Given the description of an element on the screen output the (x, y) to click on. 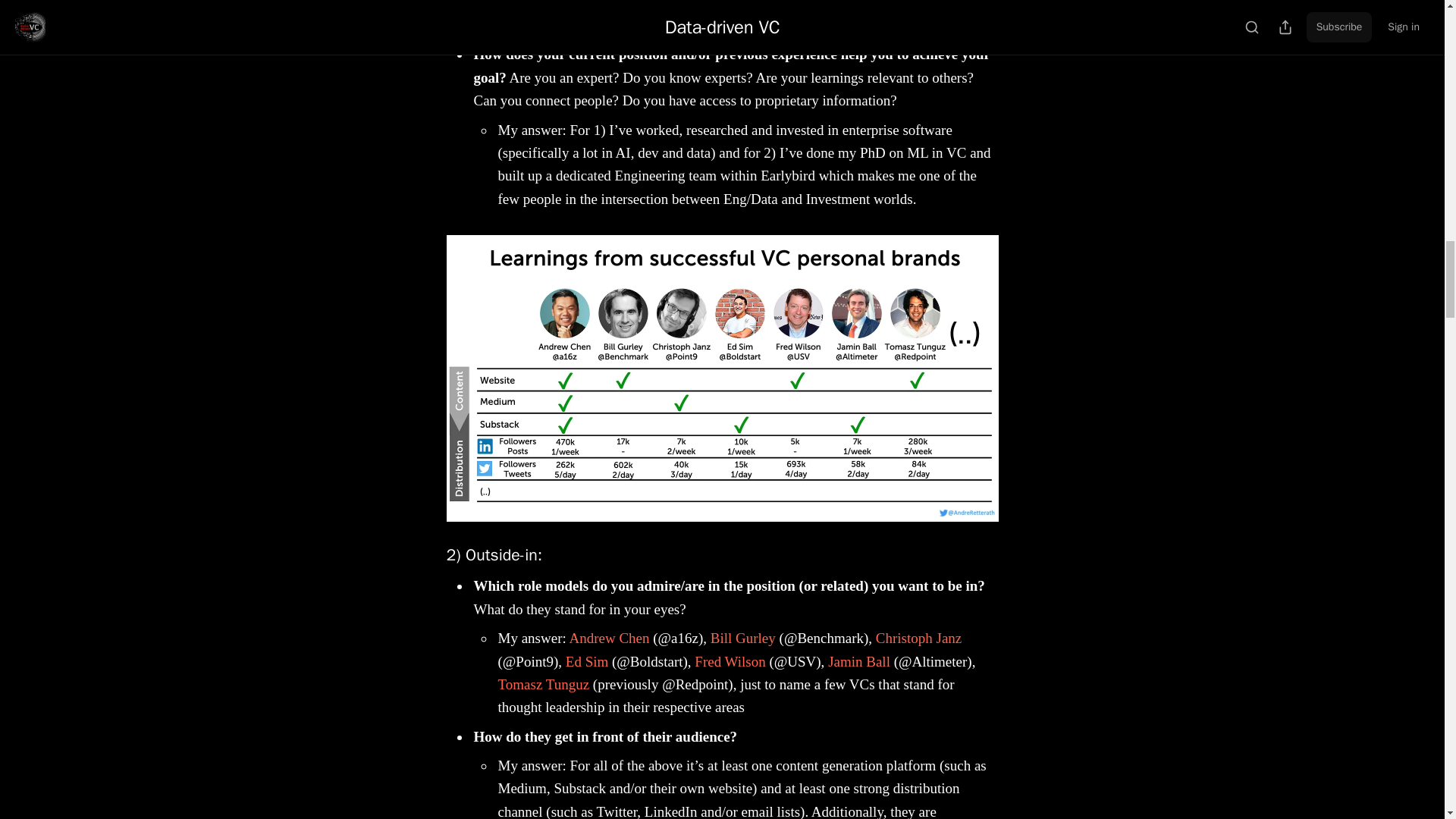
Bill Gurley (743, 637)
Christoph Janz (918, 637)
Fred Wilson (729, 661)
Jamin Ball (858, 661)
Ed Sim (587, 661)
Andrew Chen (609, 637)
